Given the description of an element on the screen output the (x, y) to click on. 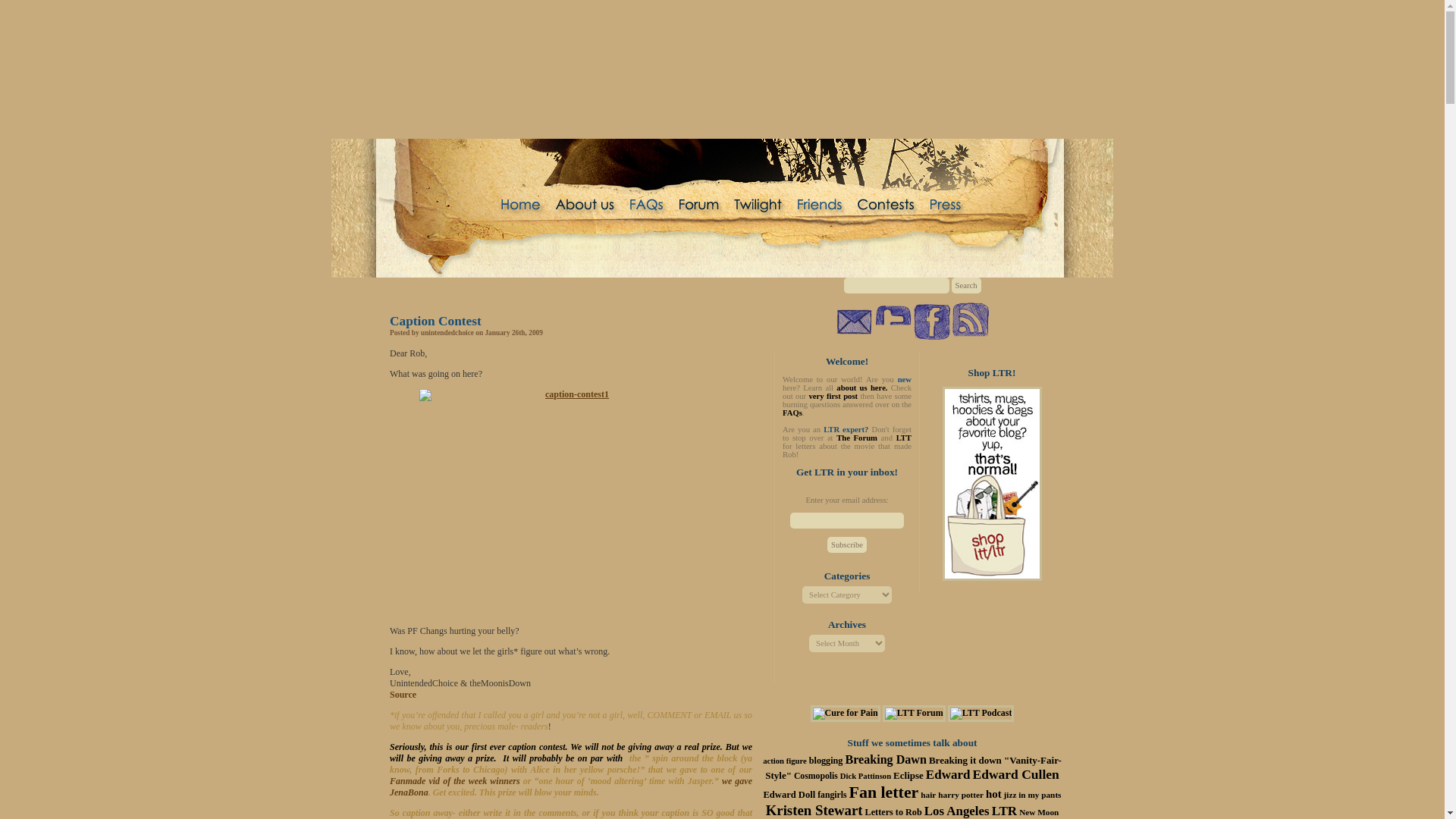
we gave JenaBona (571, 786)
LTT Forum (913, 712)
Subscribe (846, 544)
Facebook. Let's DO this! (930, 321)
caption-contest1 (570, 502)
Search (964, 285)
Source (403, 694)
We love to Tweet! (893, 322)
LTT Podcast (980, 713)
Cure for Pain (845, 713)
Subscribe to our posts! (970, 320)
Fanmade vid of the week winners (454, 780)
